Given the description of an element on the screen output the (x, y) to click on. 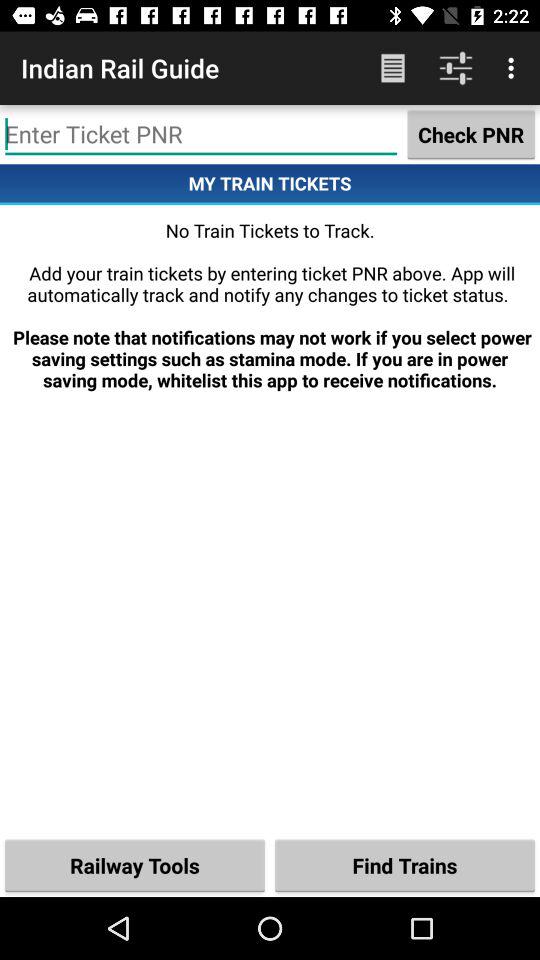
launch icon to the left of the check pnr item (201, 134)
